Given the description of an element on the screen output the (x, y) to click on. 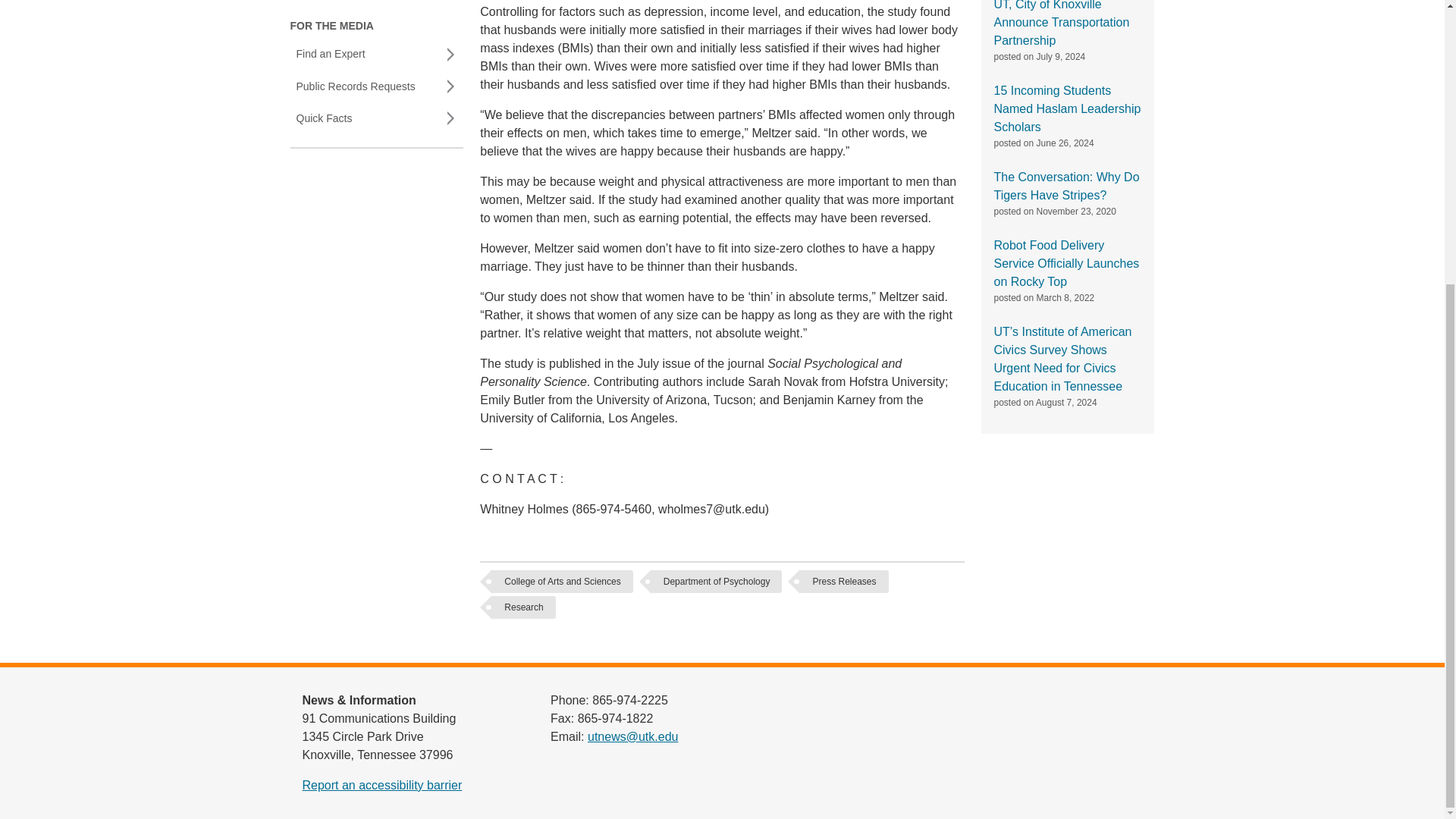
15 Incoming Students Named Haslam Leadership Scholars (1066, 108)
Department of Psychology (716, 581)
Robot Food Delivery Service Officially Launches on Rocky Top (1065, 263)
Report an accessibility barrier (381, 784)
Research (523, 607)
Quick Facts (376, 118)
The Conversation: Why Do Tigers Have Stripes? (1065, 185)
Press Releases (843, 581)
Find an Expert (376, 54)
Public Records Requests (376, 86)
